Given the description of an element on the screen output the (x, y) to click on. 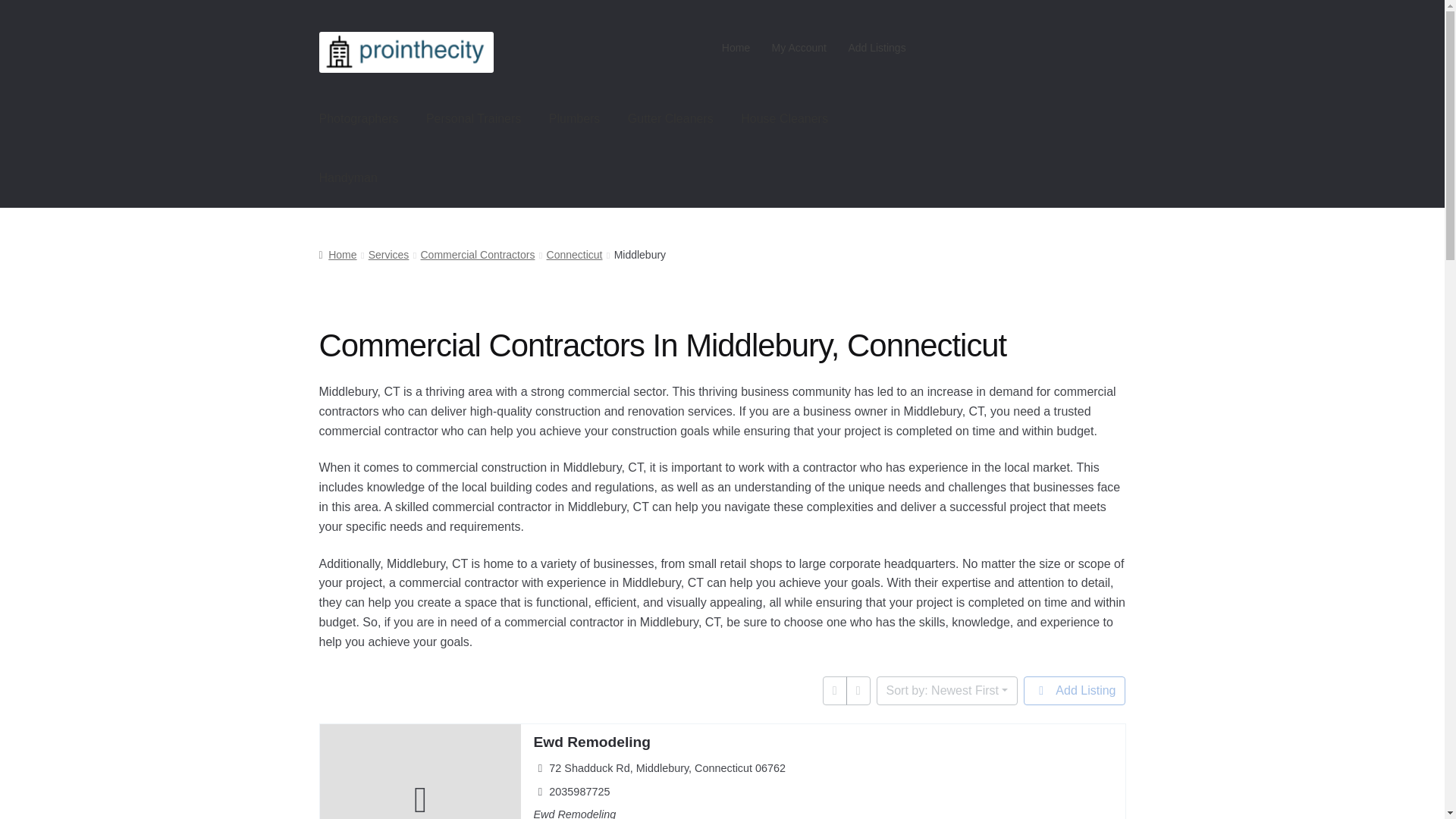
Personal Trainers (472, 118)
Handyman (348, 178)
Connecticut (574, 254)
Home (337, 254)
Commercial Contractors (477, 254)
Sort by: Newest First (946, 690)
Ewd Remodeling (591, 741)
Photographers (358, 118)
Gutter Cleaners (670, 118)
Add Listing (1074, 690)
My Account (798, 47)
Plumbers (574, 118)
Add Listings (876, 47)
House Cleaners (784, 118)
